Given the description of an element on the screen output the (x, y) to click on. 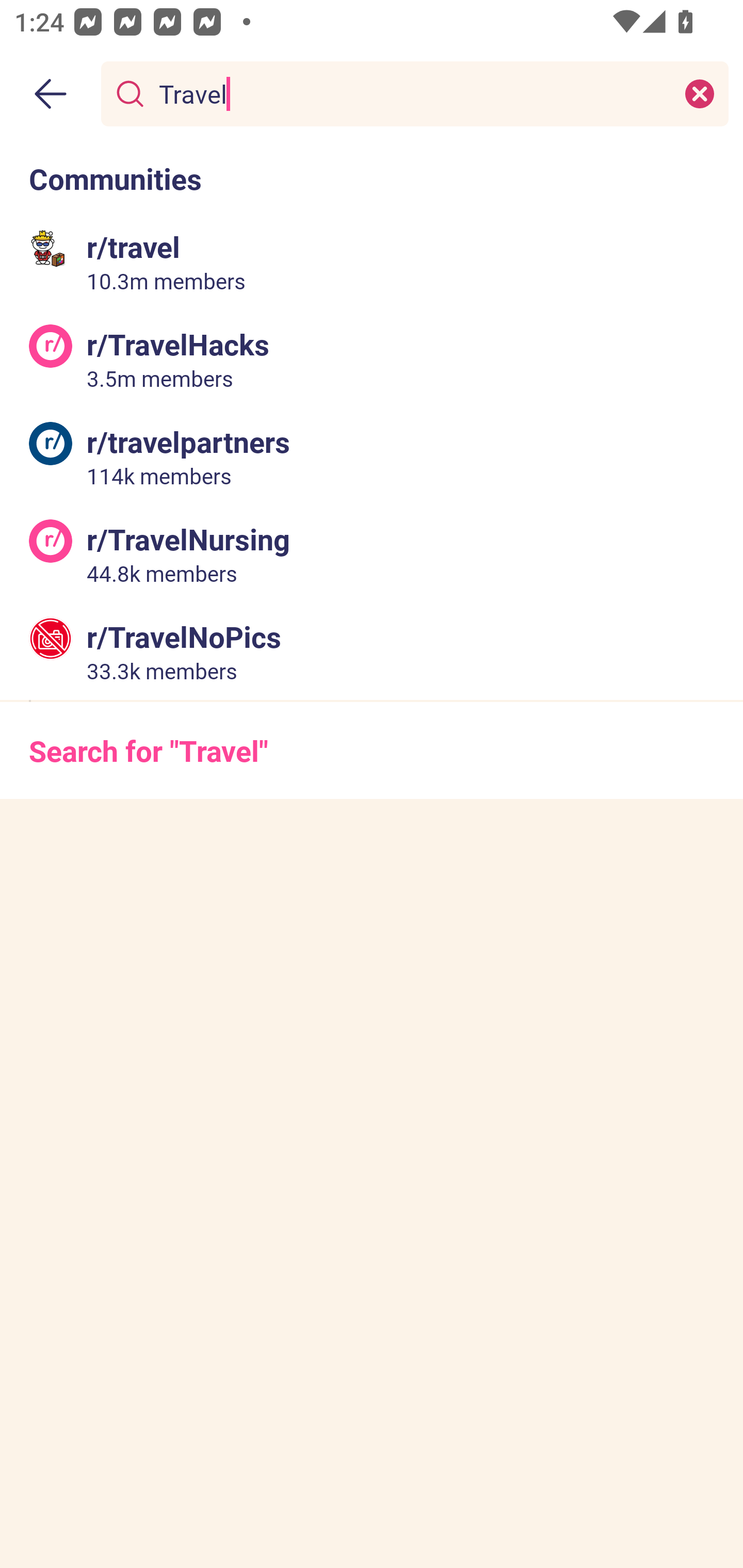
Back (50, 93)
Travel (410, 93)
Clear search (699, 93)
r/travel 10.3m members 10.3 million members (371, 261)
r/TravelHacks 3.5m members 3.5 million members (371, 358)
r/travelpartners 114k members 114 thousand members (371, 455)
r/TravelNoPics 33.3k members 33.3 thousand members (371, 650)
Search for "Travel" (371, 750)
